Given the description of an element on the screen output the (x, y) to click on. 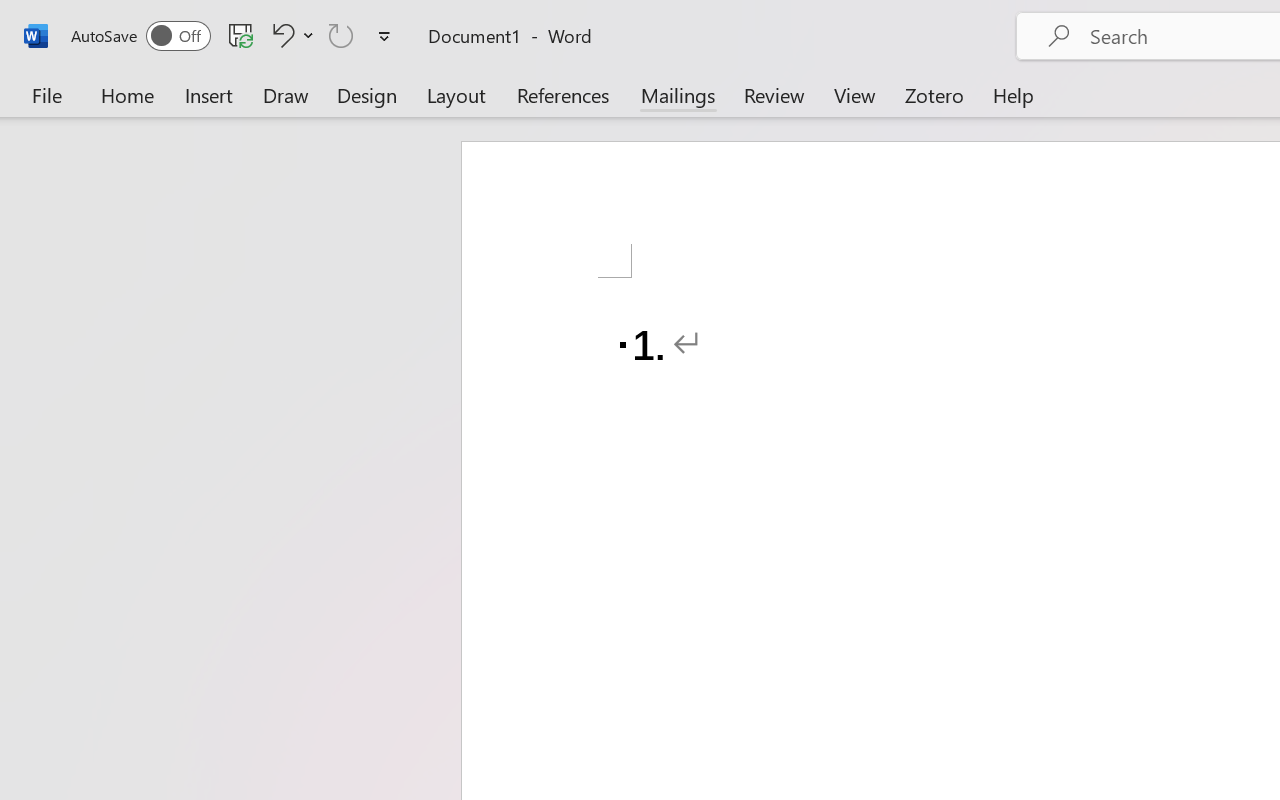
Undo Number Default (290, 35)
